Given the description of an element on the screen output the (x, y) to click on. 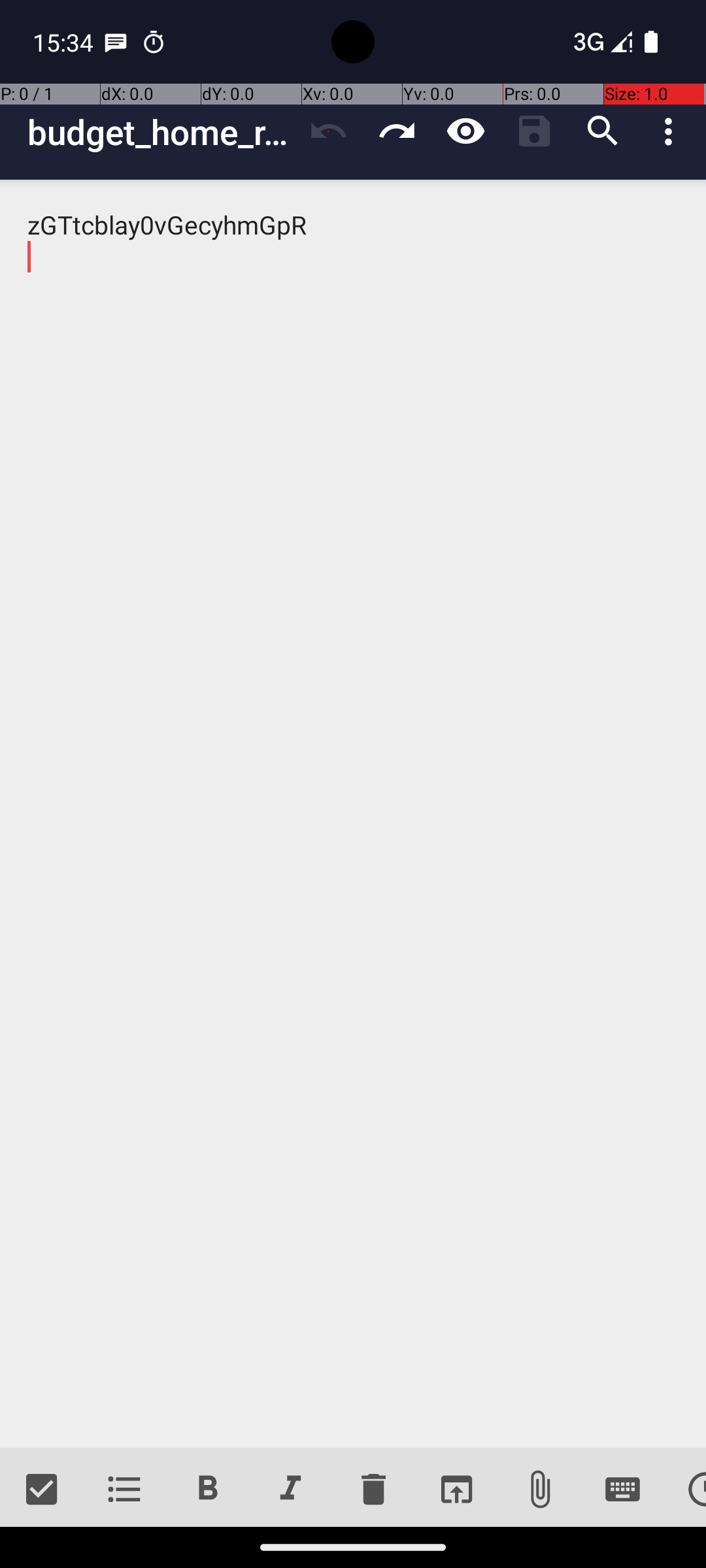
budget_home_renovation_2023_08_10 Element type: android.widget.TextView (160, 131)
zGTtcblay0vGecyhmGpR
**** Element type: android.widget.EditText (353, 813)
